Given the description of an element on the screen output the (x, y) to click on. 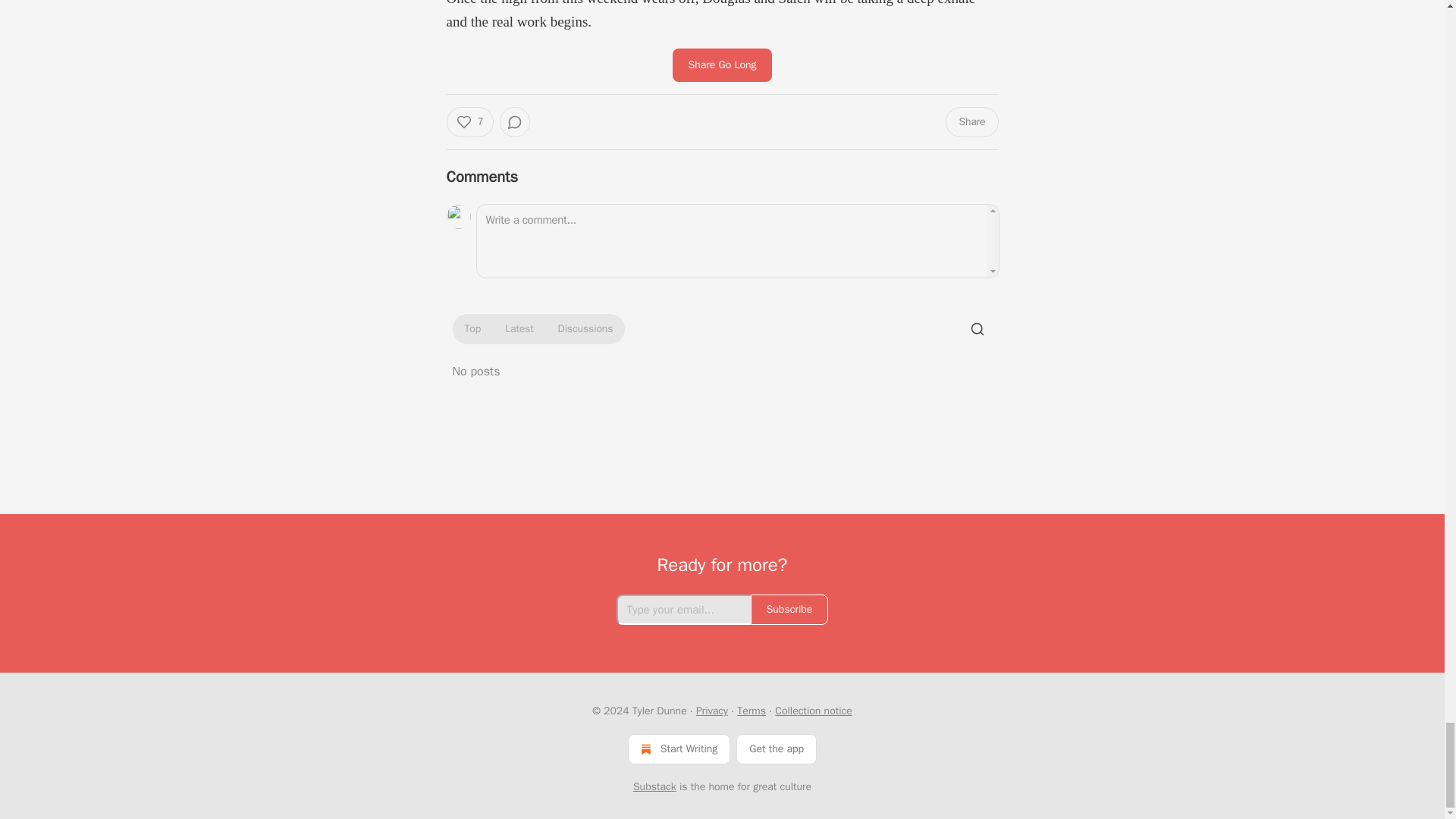
7 (469, 122)
Share Go Long (721, 64)
